Given the description of an element on the screen output the (x, y) to click on. 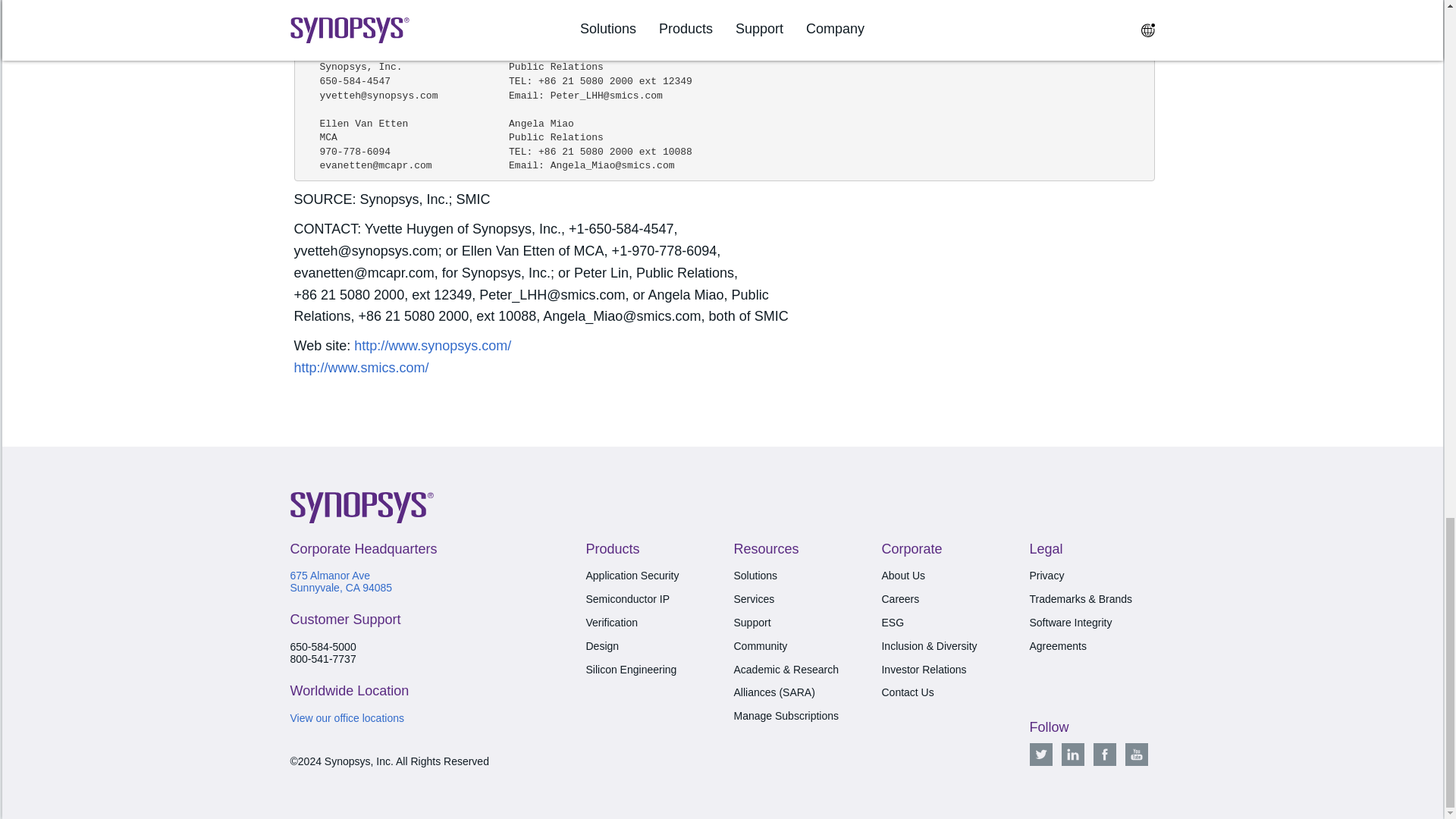
Facebook (1104, 753)
Linkedin (1072, 753)
Twitter (1040, 753)
